Given the description of an element on the screen output the (x, y) to click on. 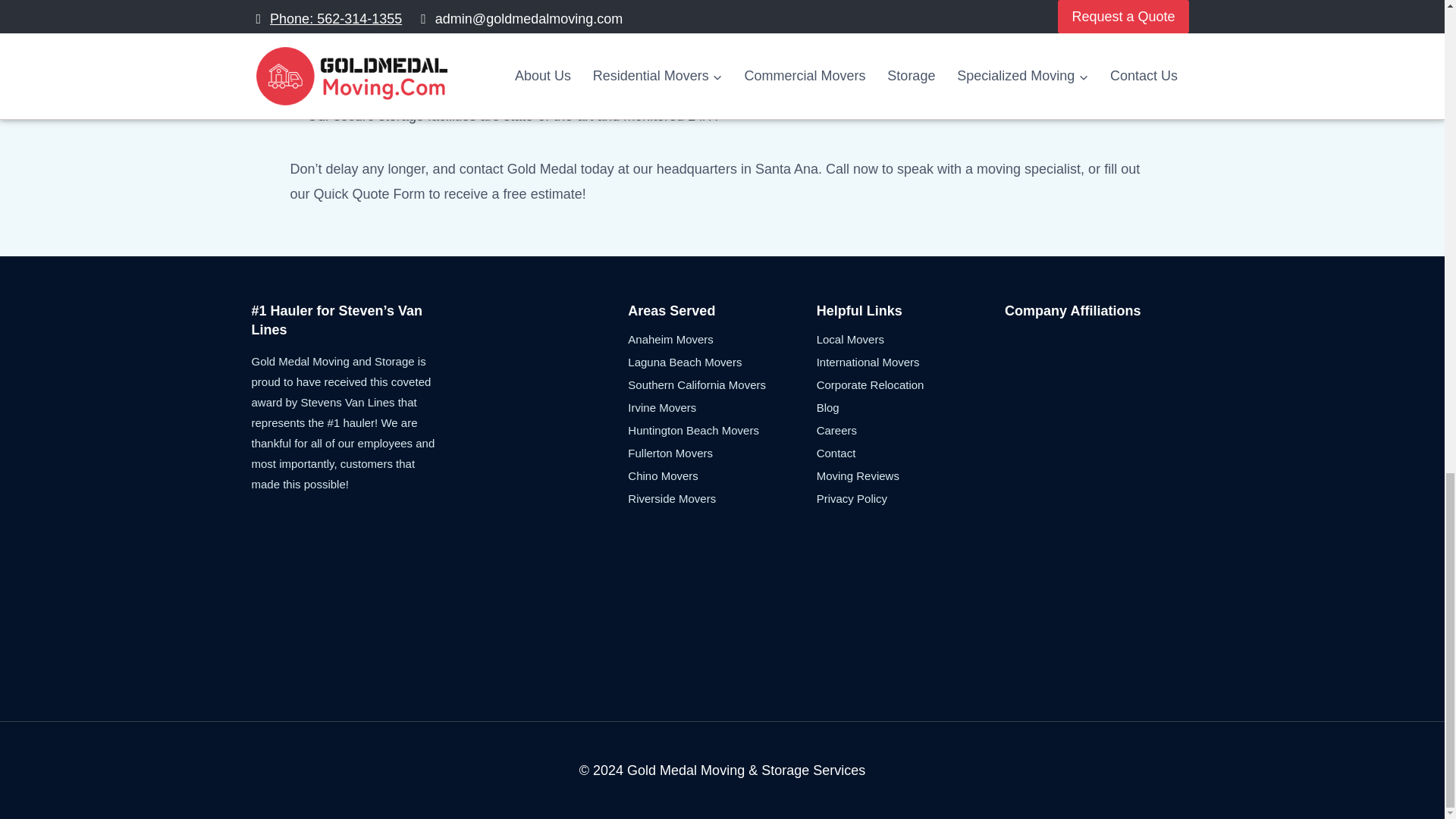
Riverside Movers (721, 497)
Careers (910, 429)
Local Movers (910, 338)
Fullerton Movers (721, 452)
International Movers (910, 361)
Southern California Movers (721, 384)
Anaheim Movers (721, 338)
Blog (910, 406)
Huntington Beach Movers (721, 429)
Laguna Beach Movers (721, 361)
Privacy Policy (910, 497)
Irvine Movers (721, 406)
Chino Movers (721, 475)
Corporate Relocation (910, 384)
Moving Reviews (910, 475)
